Given the description of an element on the screen output the (x, y) to click on. 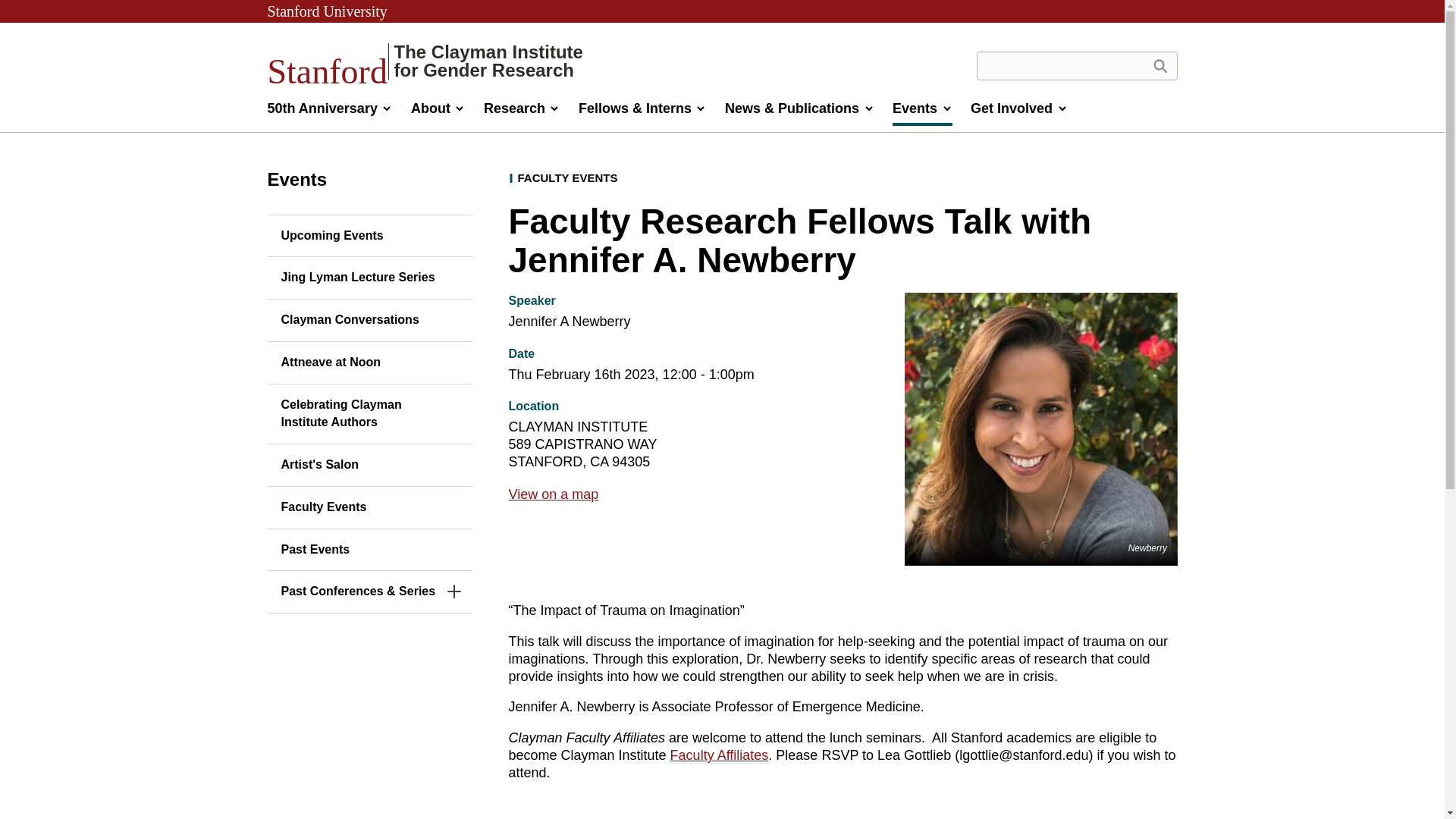
Stanford University (326, 11)
About (437, 112)
Research (521, 112)
50th Anniversary (424, 61)
